Given the description of an element on the screen output the (x, y) to click on. 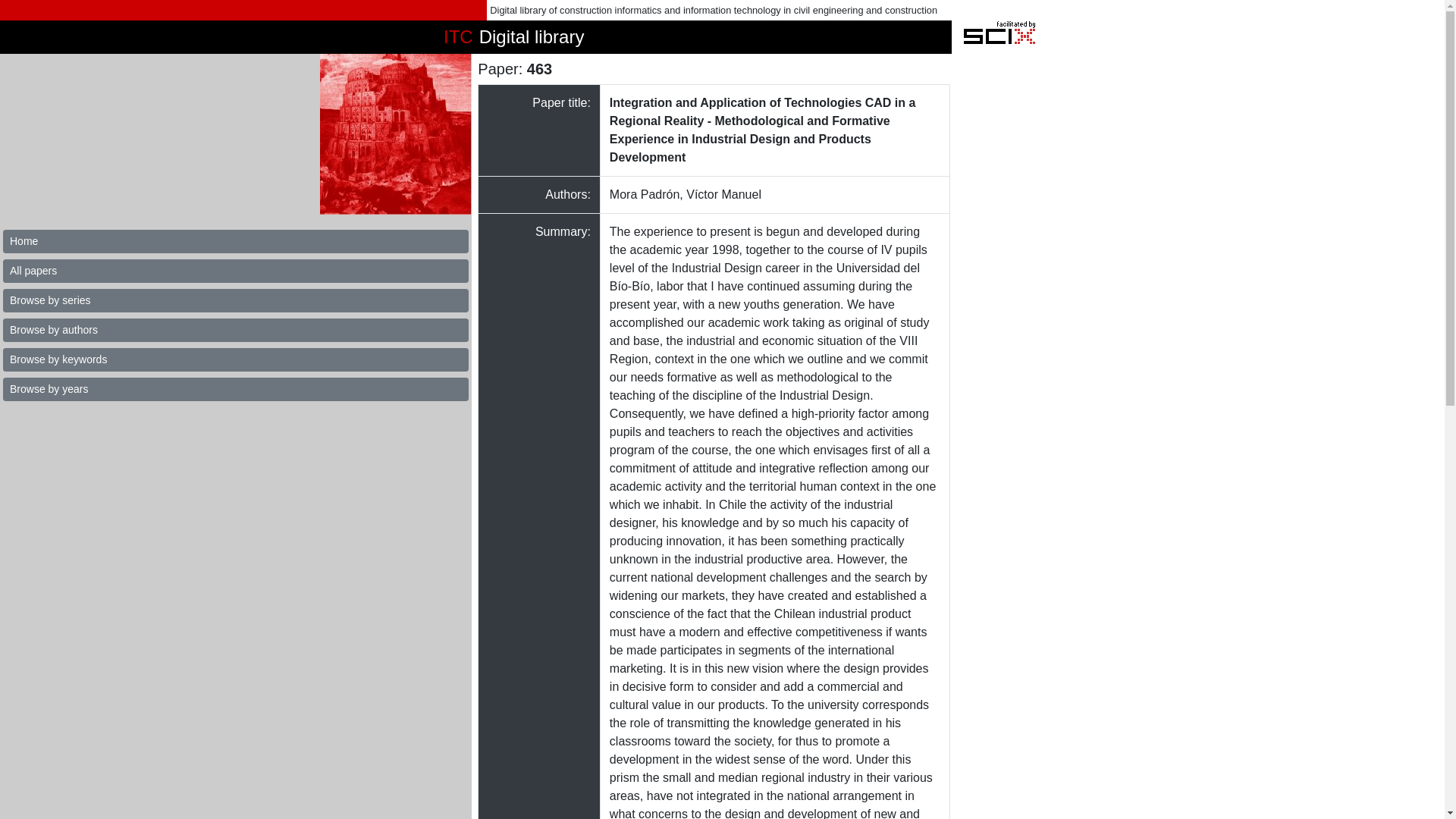
Browse by keywords (235, 359)
Home (235, 241)
Browse by authors (235, 330)
All papers (235, 270)
Browse by series (235, 300)
Browse by years (235, 389)
